Given the description of an element on the screen output the (x, y) to click on. 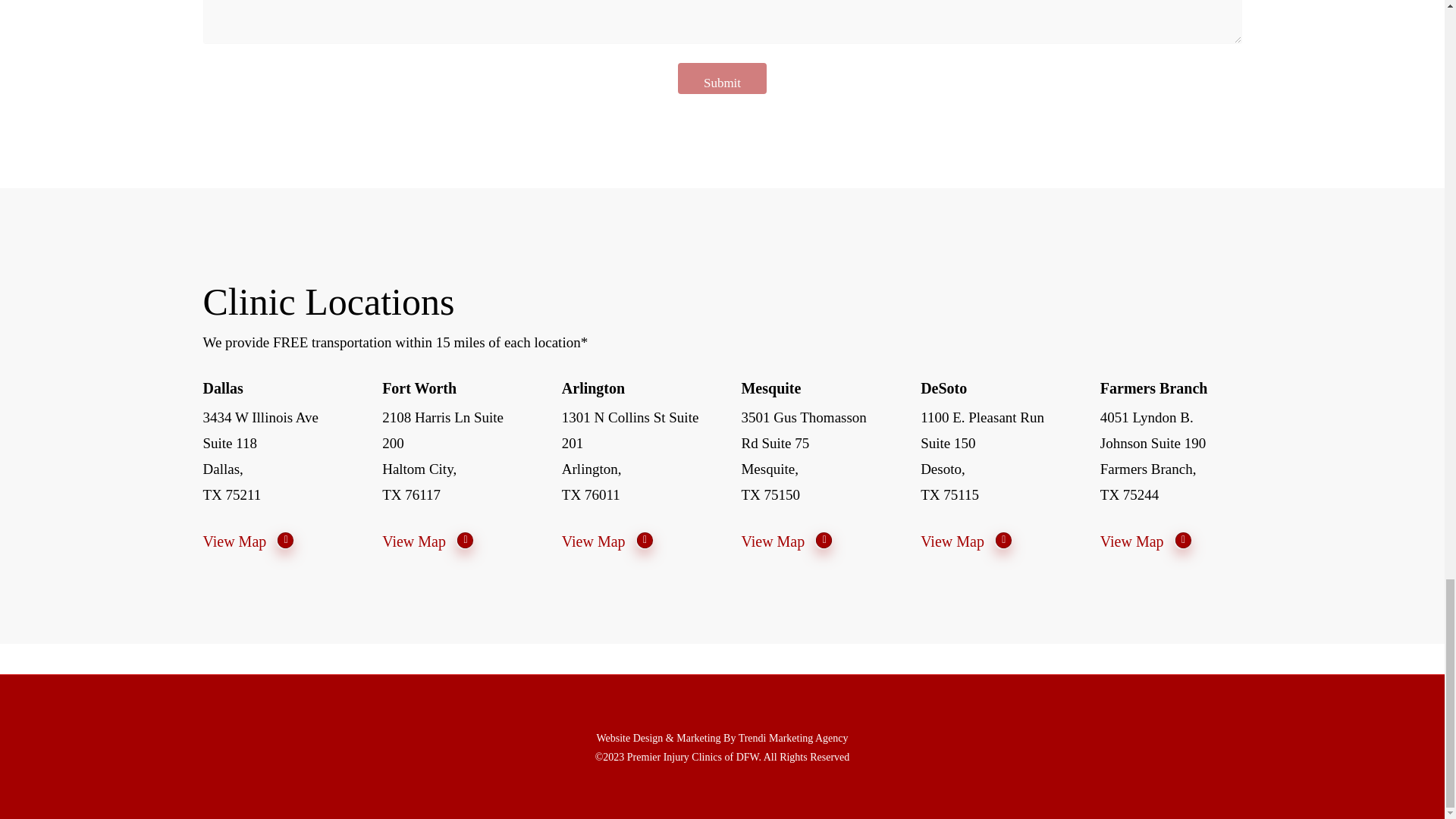
Submit (722, 78)
View Map (1146, 540)
View Map (607, 540)
View Map (249, 540)
View Map (786, 540)
View Map (966, 540)
View Map (427, 540)
Trendi Marketing Agency (793, 737)
